Given the description of an element on the screen output the (x, y) to click on. 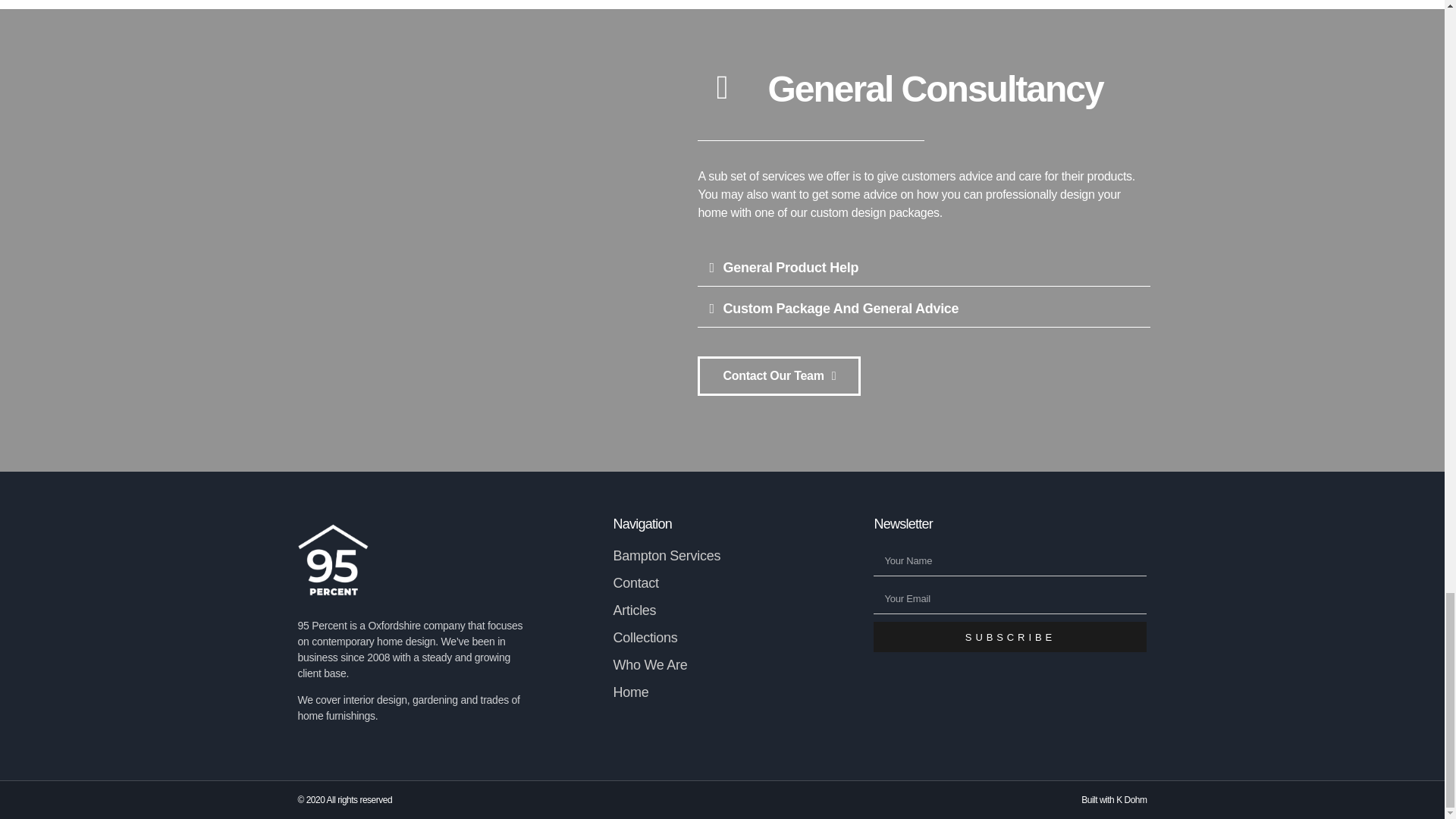
Contact Our Team (778, 375)
Collections (644, 637)
Contact (635, 582)
Custom Package And General Advice (840, 308)
Articles (634, 610)
General Product Help (790, 267)
Bampton Services (666, 555)
